Given the description of an element on the screen output the (x, y) to click on. 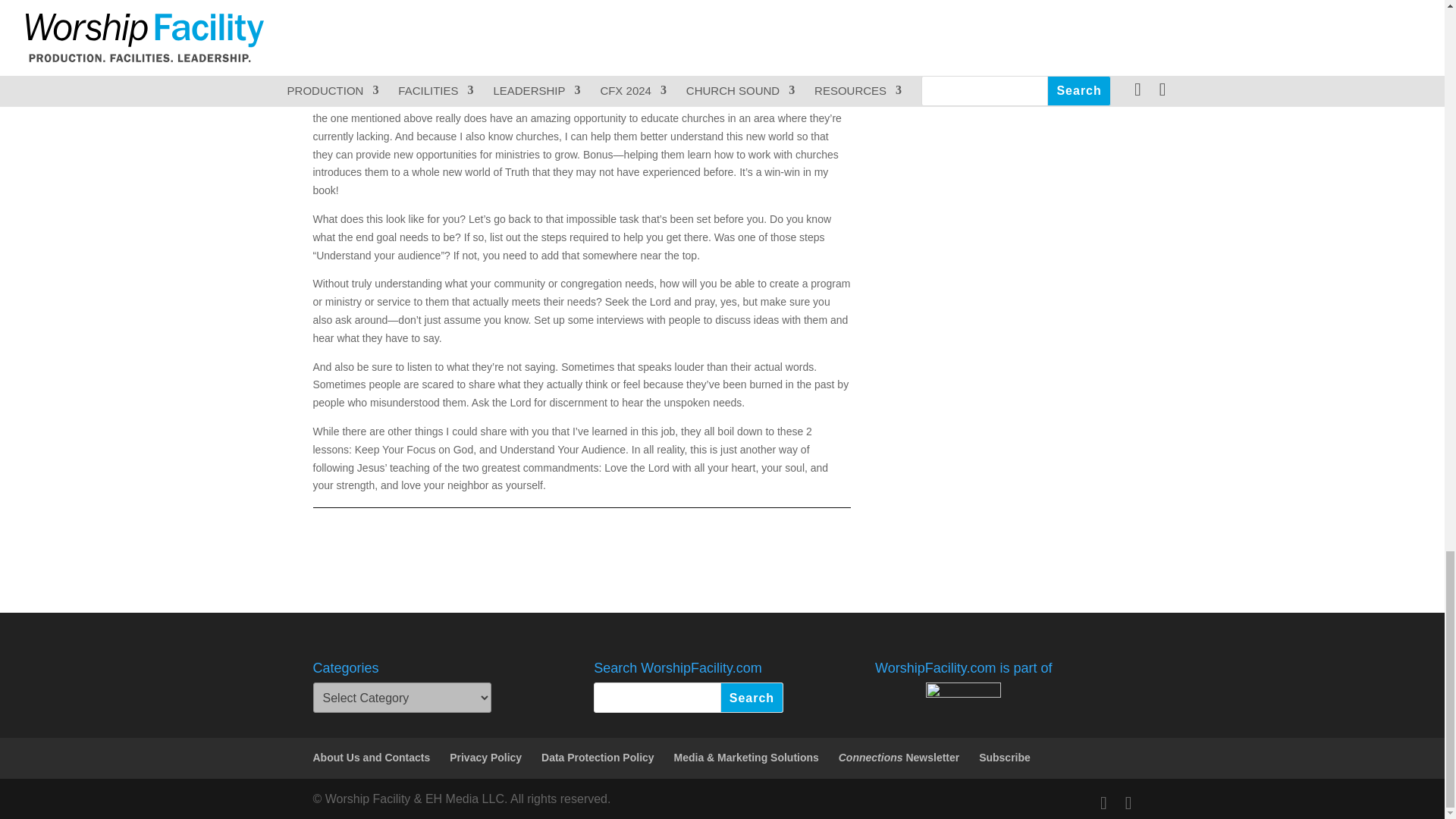
Search (752, 697)
